Given the description of an element on the screen output the (x, y) to click on. 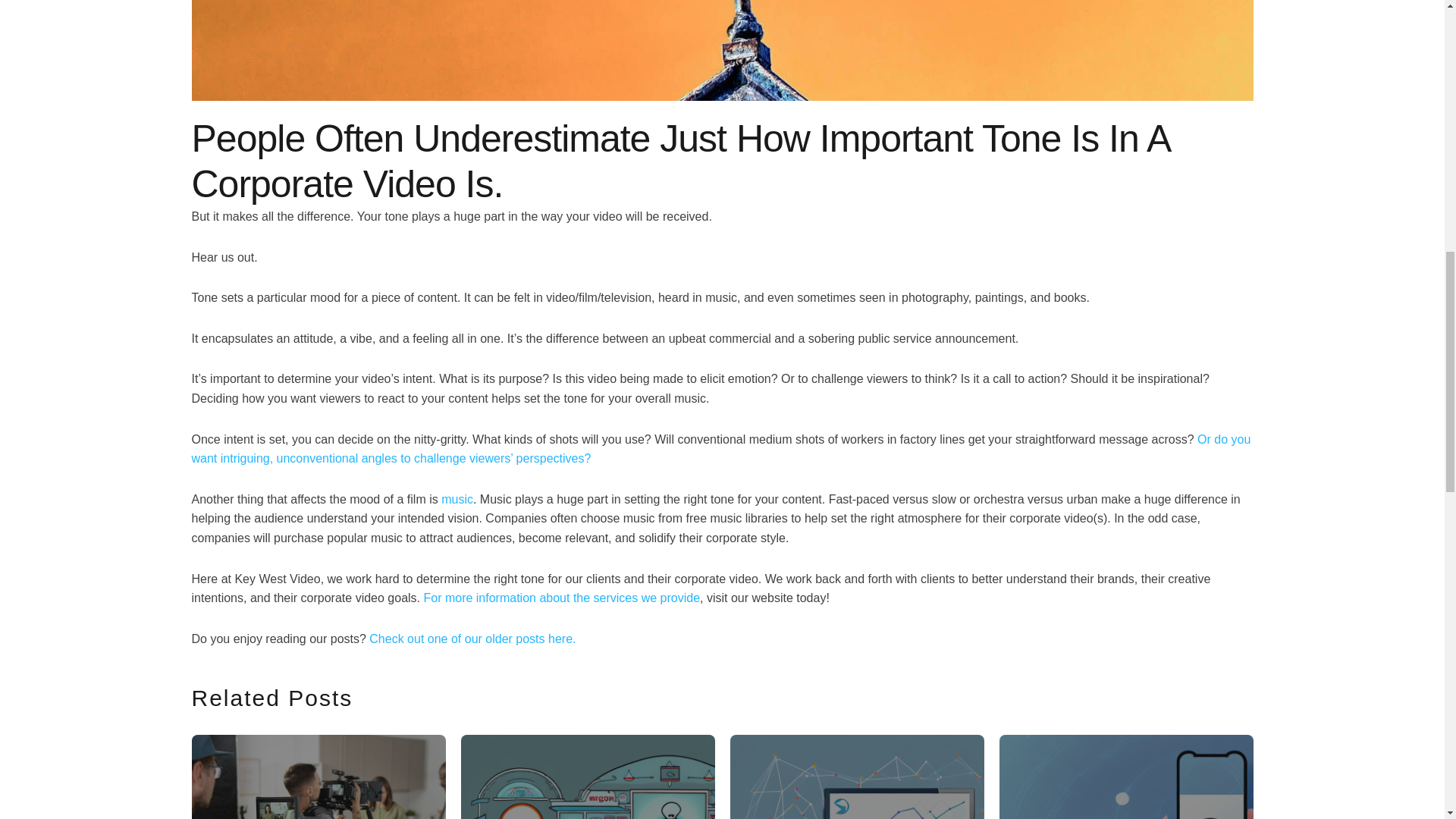
TOP TRENDS IN VIDEO PRODUCTION SERVICES FOR 2024 (317, 776)
Check out one of our older posts here. (472, 638)
UNDERSTANDING YOUTUBE ANALYTICS (856, 776)
music (457, 499)
For more information about the services we provide (561, 597)
TIPS FOR TAKING GREAT PHOTOS WITH YOUR CELLPHONE (1125, 776)
EFFECTIVE MARKETING STRATEGIES FOR SMALL BUSINESS (587, 776)
